Given the description of an element on the screen output the (x, y) to click on. 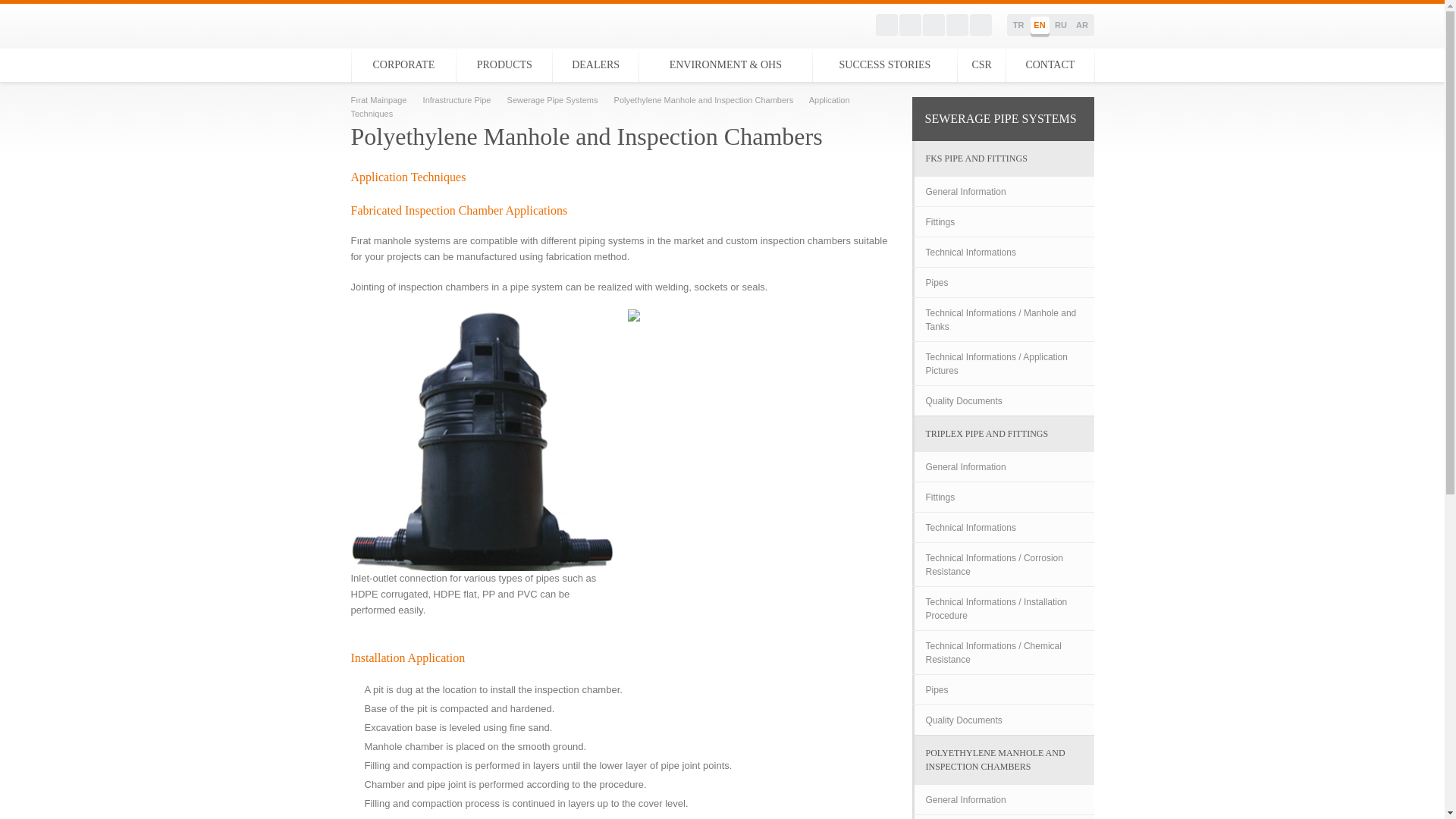
EN (1038, 25)
LinkedIn (957, 25)
CORPORATE (404, 64)
Facebook (885, 25)
RU (1060, 25)
Instagram (980, 25)
TR (1018, 25)
Twitter (910, 25)
YouTube (932, 25)
AR (1080, 25)
